Given the description of an element on the screen output the (x, y) to click on. 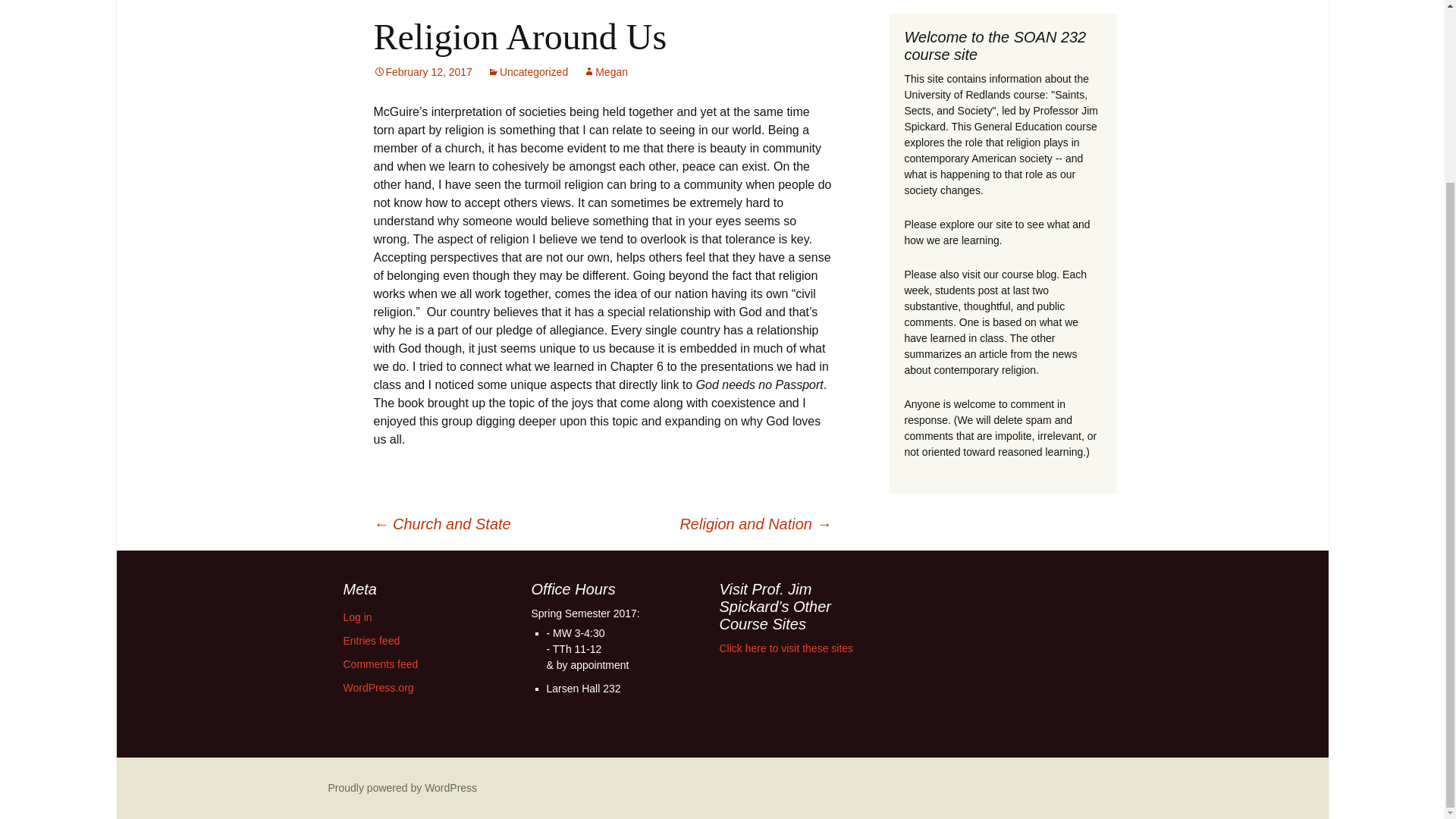
Minor Writing (609, 8)
Proudly powered by WordPress (402, 787)
Uncategorized (527, 71)
View all posts by Megan (605, 71)
About Blog Posts (708, 8)
Permalink to Religion Around Us (421, 71)
Books (452, 8)
Comments feed (379, 664)
Megan (605, 71)
Entries feed (370, 640)
How I Grade Course Participation (945, 14)
February 12, 2017 (421, 71)
Click here to visit these sites (786, 648)
Log in (356, 616)
WordPress.org (377, 687)
